Given the description of an element on the screen output the (x, y) to click on. 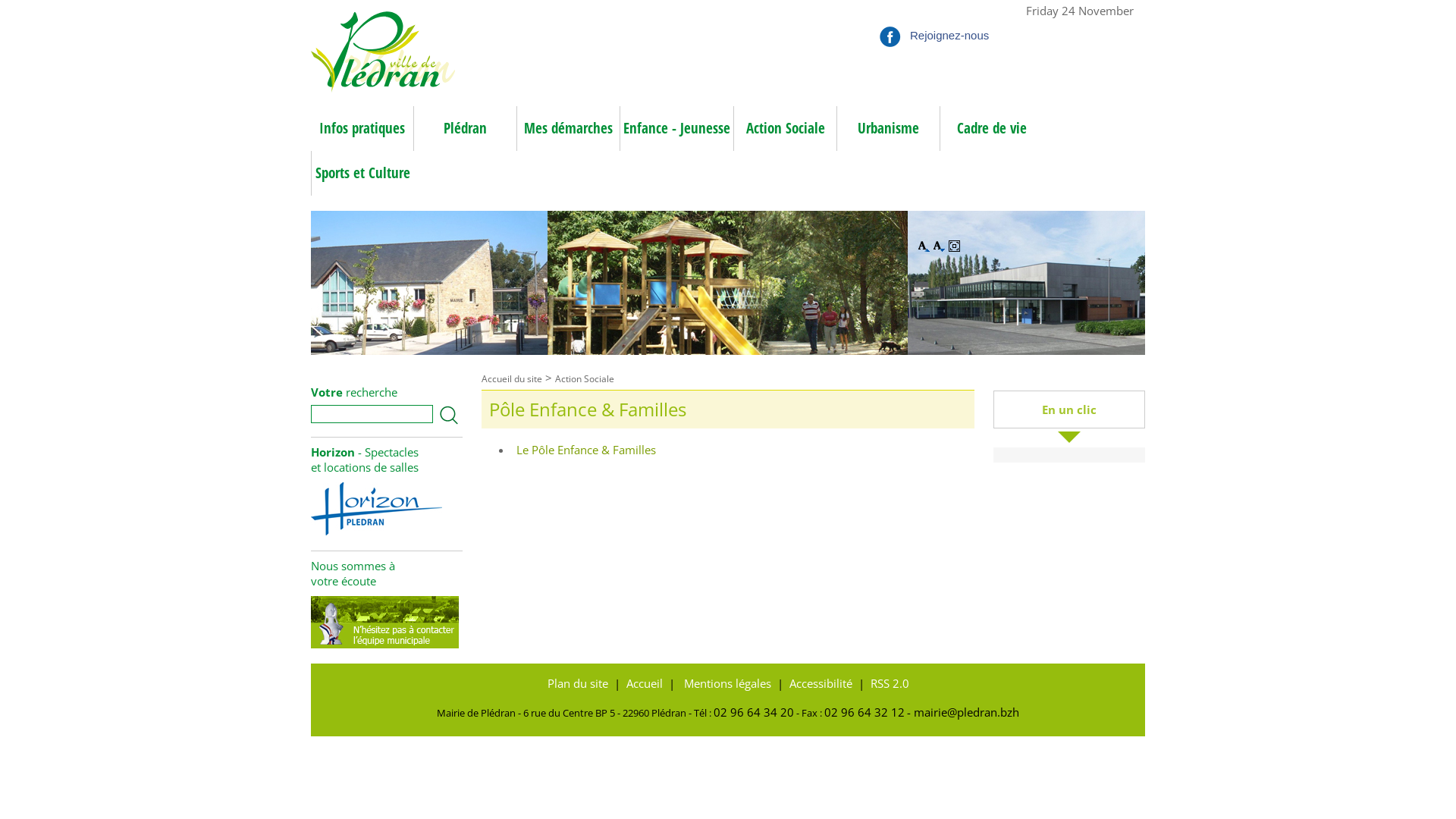
Enfance - Jeunesse Element type: text (676, 128)
Diminuer police Element type: hover (939, 246)
Rejoignez-nous Element type: text (945, 16)
Texte seulement Element type: hover (955, 246)
Cadre de vie Element type: text (990, 128)
Augmenter police Element type: hover (924, 246)
Infos pratiques Element type: text (361, 128)
Urbanisme Element type: text (887, 128)
Action Sociale Element type: text (784, 128)
 RSS 2.0 Element type: text (888, 682)
Accueil du site Element type: text (511, 378)
Plan du site Element type: text (577, 682)
mairie@pledran.bzh Element type: text (962, 711)
Accueil Element type: text (644, 682)
Sports et Culture Element type: text (362, 172)
Action Sociale Element type: text (584, 378)
Rechercher Element type: hover (448, 416)
